Given the description of an element on the screen output the (x, y) to click on. 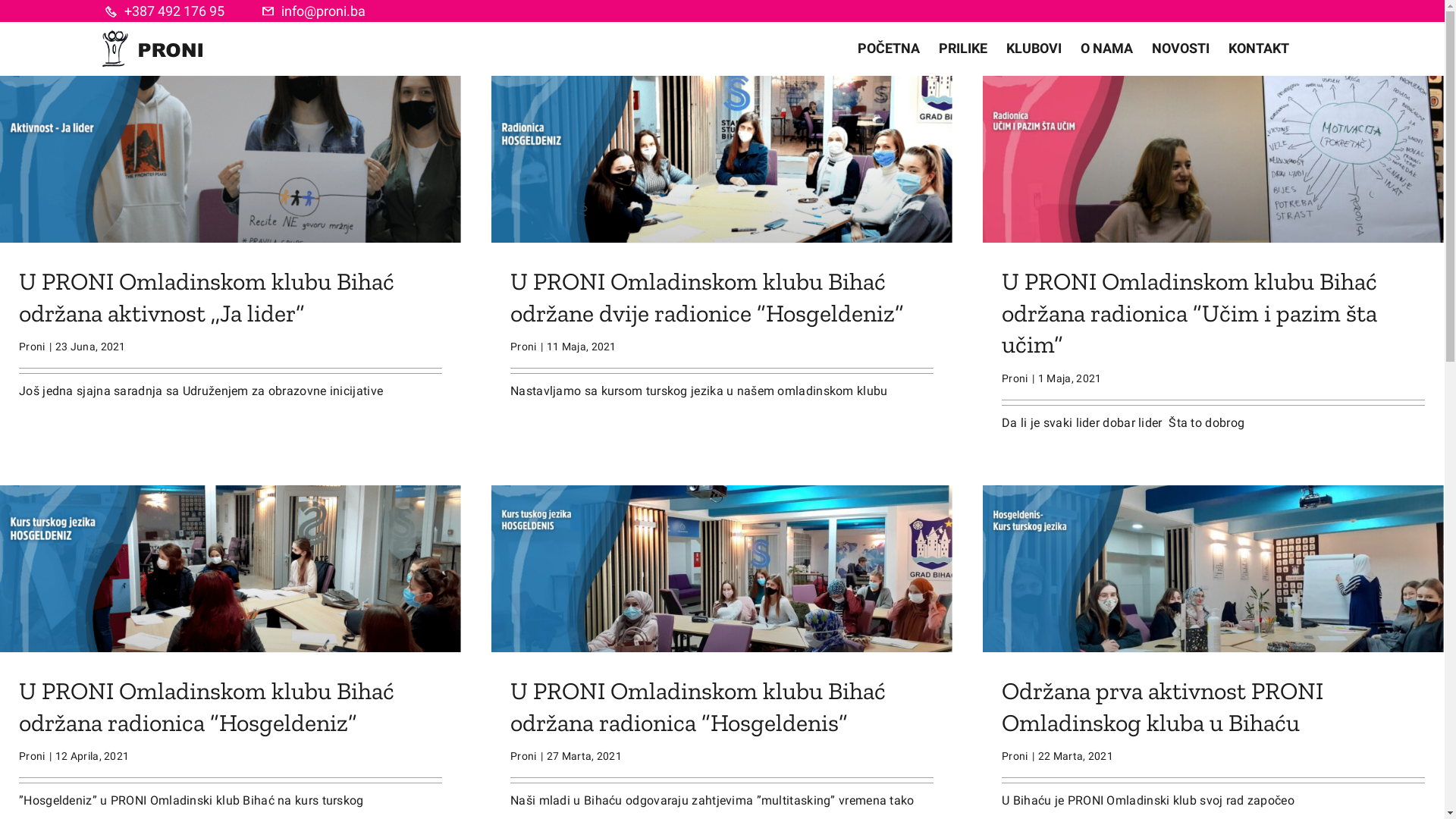
+387 492 176 95 Element type: text (174, 11)
NOVOSTI Element type: text (1180, 48)
Proni Element type: text (523, 346)
Proni Element type: text (1014, 755)
KLUBOVI Element type: text (1033, 48)
O NAMA Element type: text (1106, 48)
Proni Element type: text (31, 346)
Proni Element type: text (1014, 378)
Proni Element type: text (31, 755)
Proni Element type: text (523, 755)
PRILIKE Element type: text (962, 48)
KONTAKT Element type: text (1258, 48)
info@proni.ba Element type: text (323, 11)
